Given the description of an element on the screen output the (x, y) to click on. 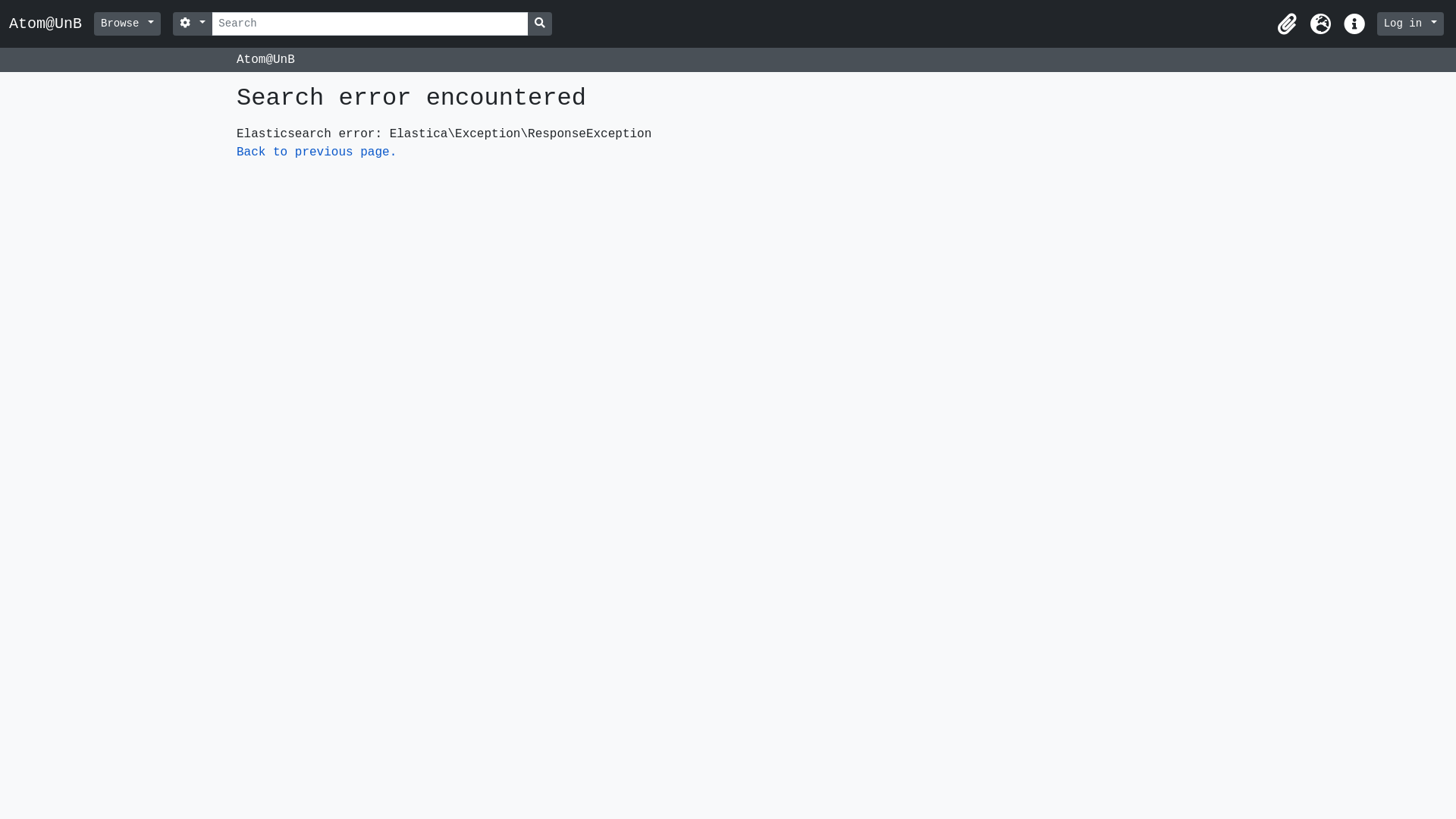
Quick links Element type: text (1354, 23)
Clipboard Element type: text (1287, 23)
Back to previous page. Element type: text (316, 152)
Search in browse page Element type: text (539, 23)
Search options Element type: text (192, 23)
Atom@UnB Element type: text (51, 23)
Browse Element type: text (127, 23)
Log in Element type: text (1410, 23)
Language Element type: text (1320, 23)
